Given the description of an element on the screen output the (x, y) to click on. 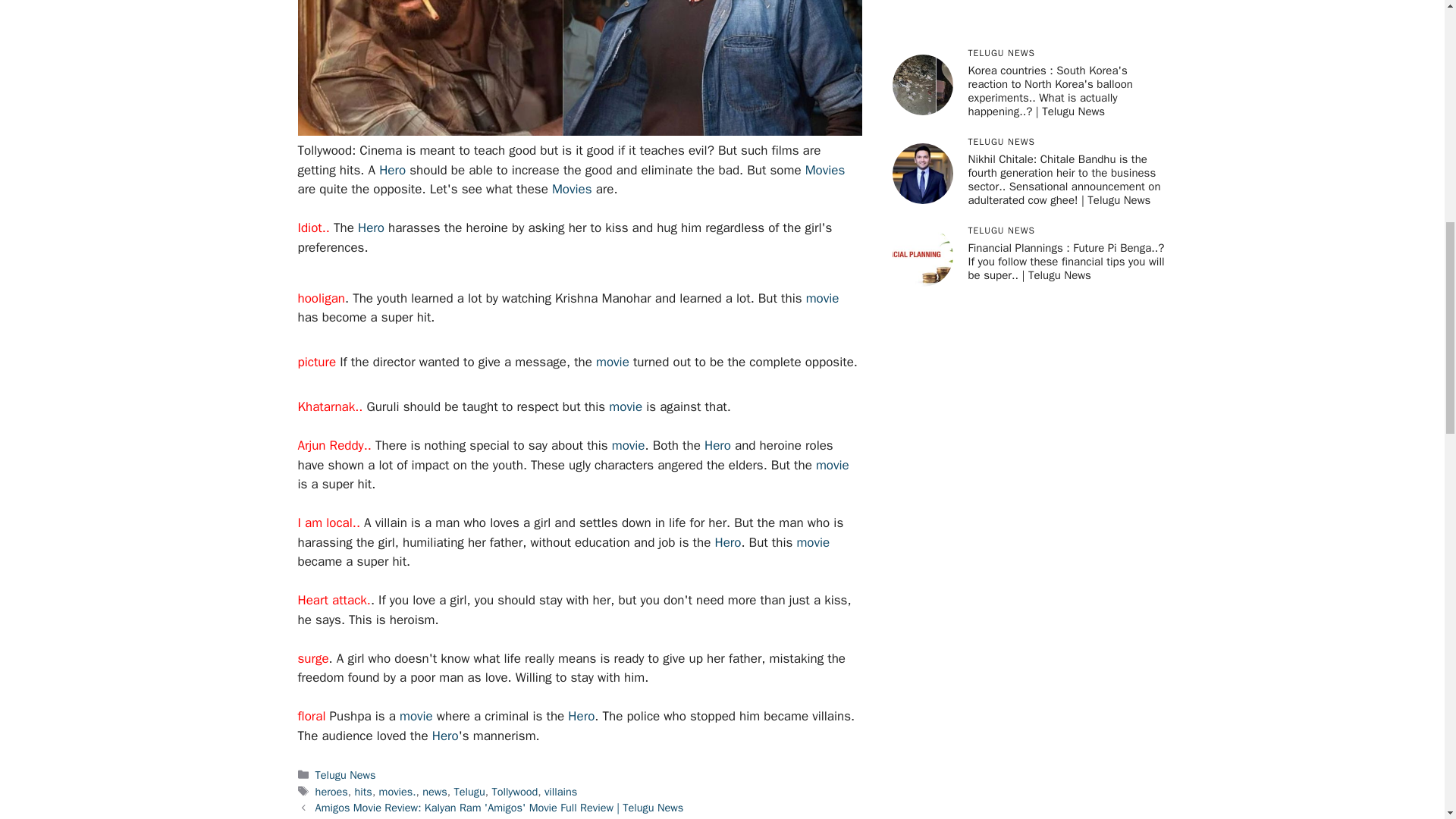
Tollywood (514, 791)
movie (831, 464)
movie (625, 406)
Hero (371, 227)
movie (611, 361)
Movies (571, 188)
Movies (825, 170)
news (434, 791)
Telugu News (345, 775)
movie (628, 445)
Hero (717, 445)
Hero (727, 541)
movie (823, 297)
movies. (397, 791)
heroes (331, 791)
